Given the description of an element on the screen output the (x, y) to click on. 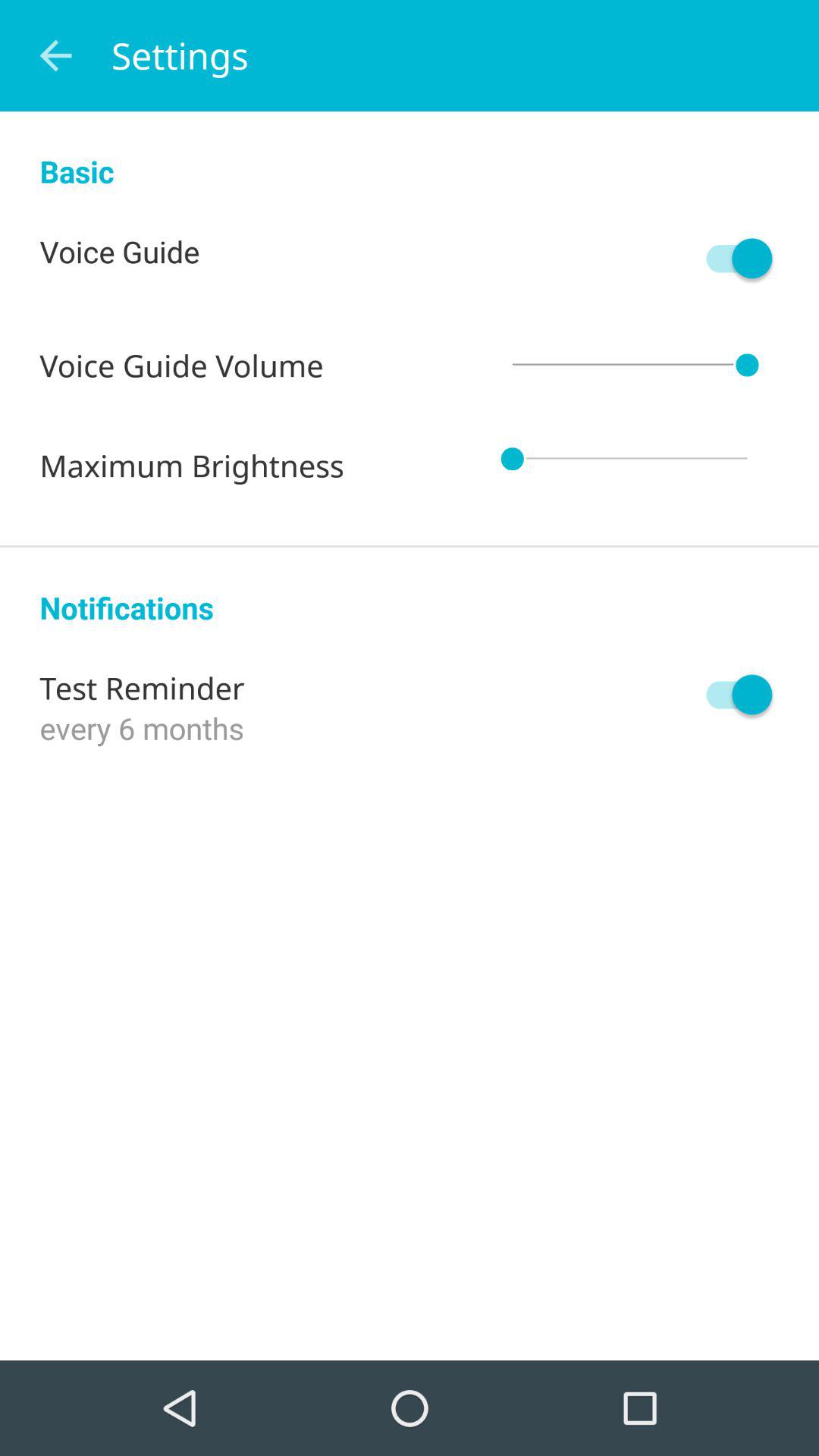
select the icon above basic icon (55, 55)
